Given the description of an element on the screen output the (x, y) to click on. 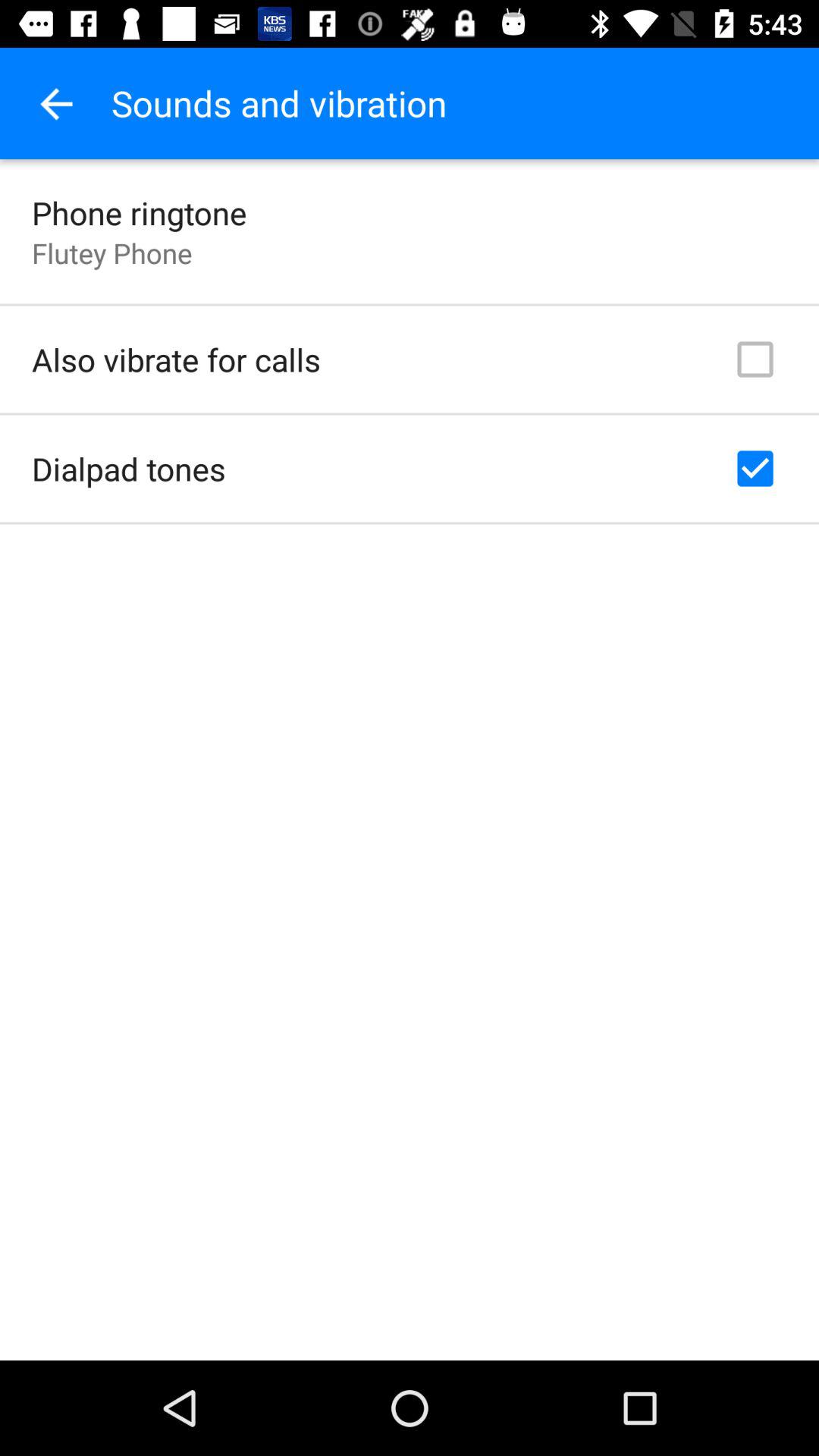
press item above dialpad tones (175, 359)
